Given the description of an element on the screen output the (x, y) to click on. 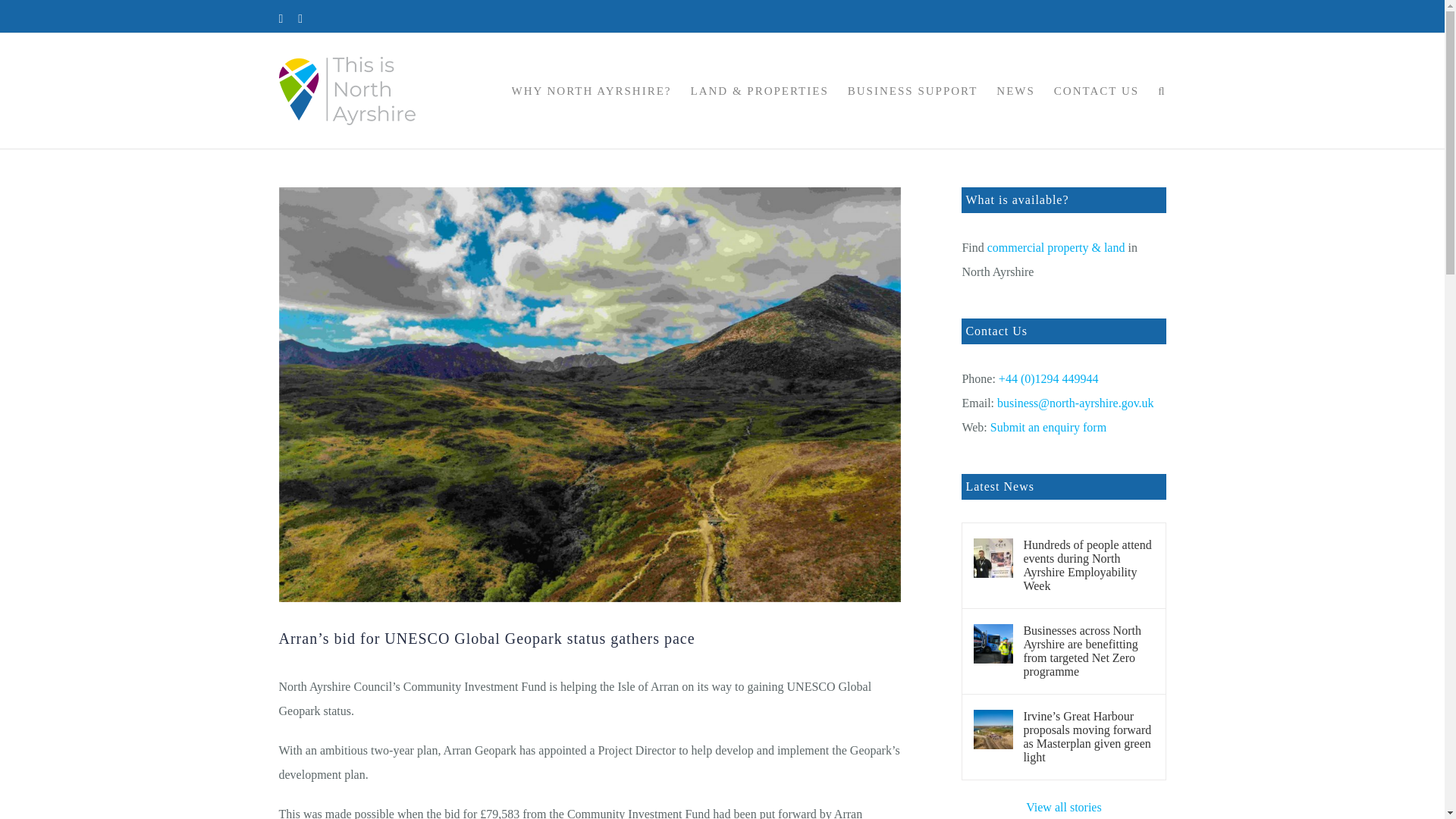
BUSINESS SUPPORT (912, 90)
WHY NORTH AYRSHIRE? (591, 90)
